Given the description of an element on the screen output the (x, y) to click on. 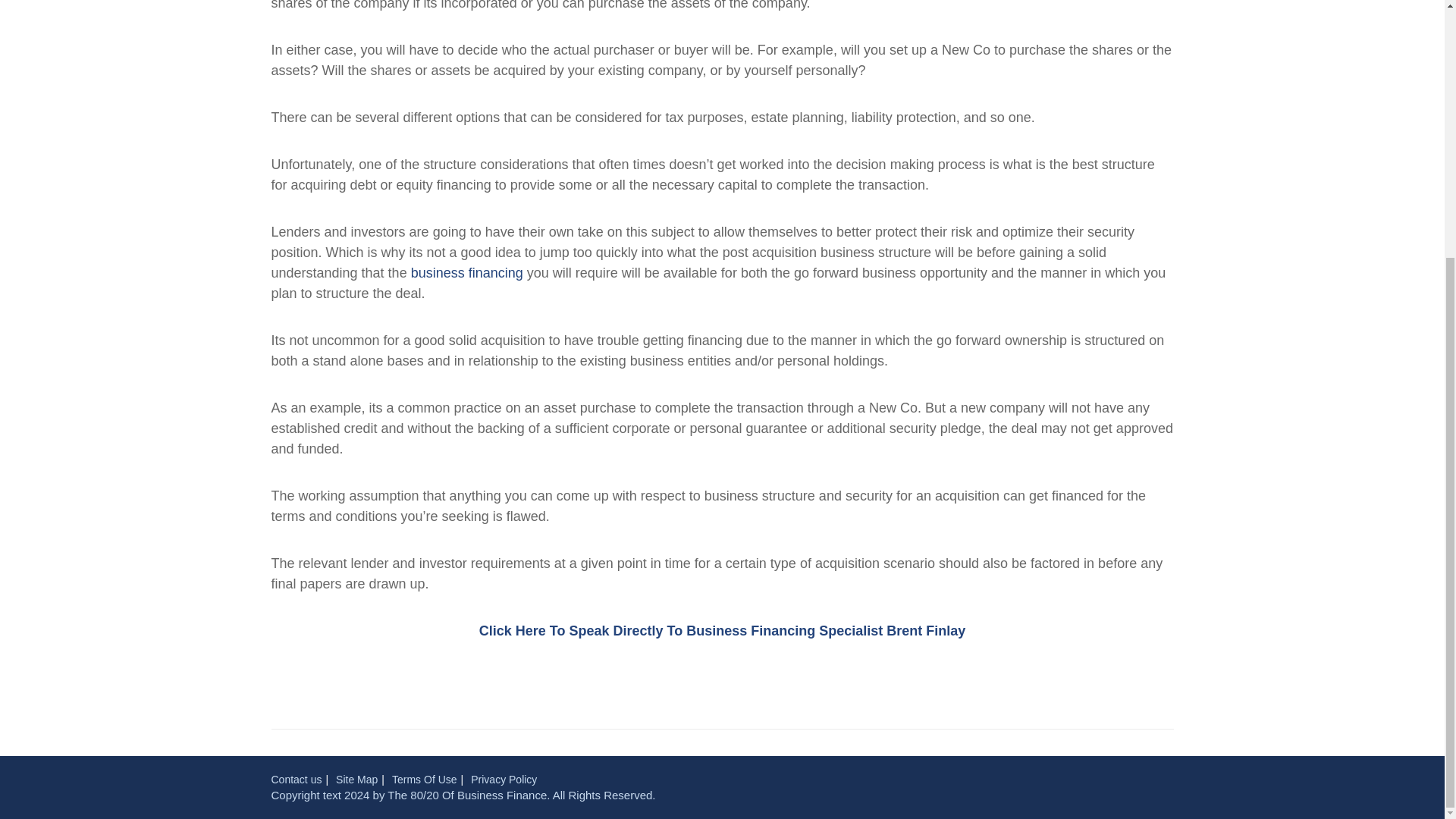
Site Map (356, 779)
Privacy Policy (503, 779)
Contact us (295, 779)
Terms Of Use (424, 779)
business financing (466, 272)
